Given the description of an element on the screen output the (x, y) to click on. 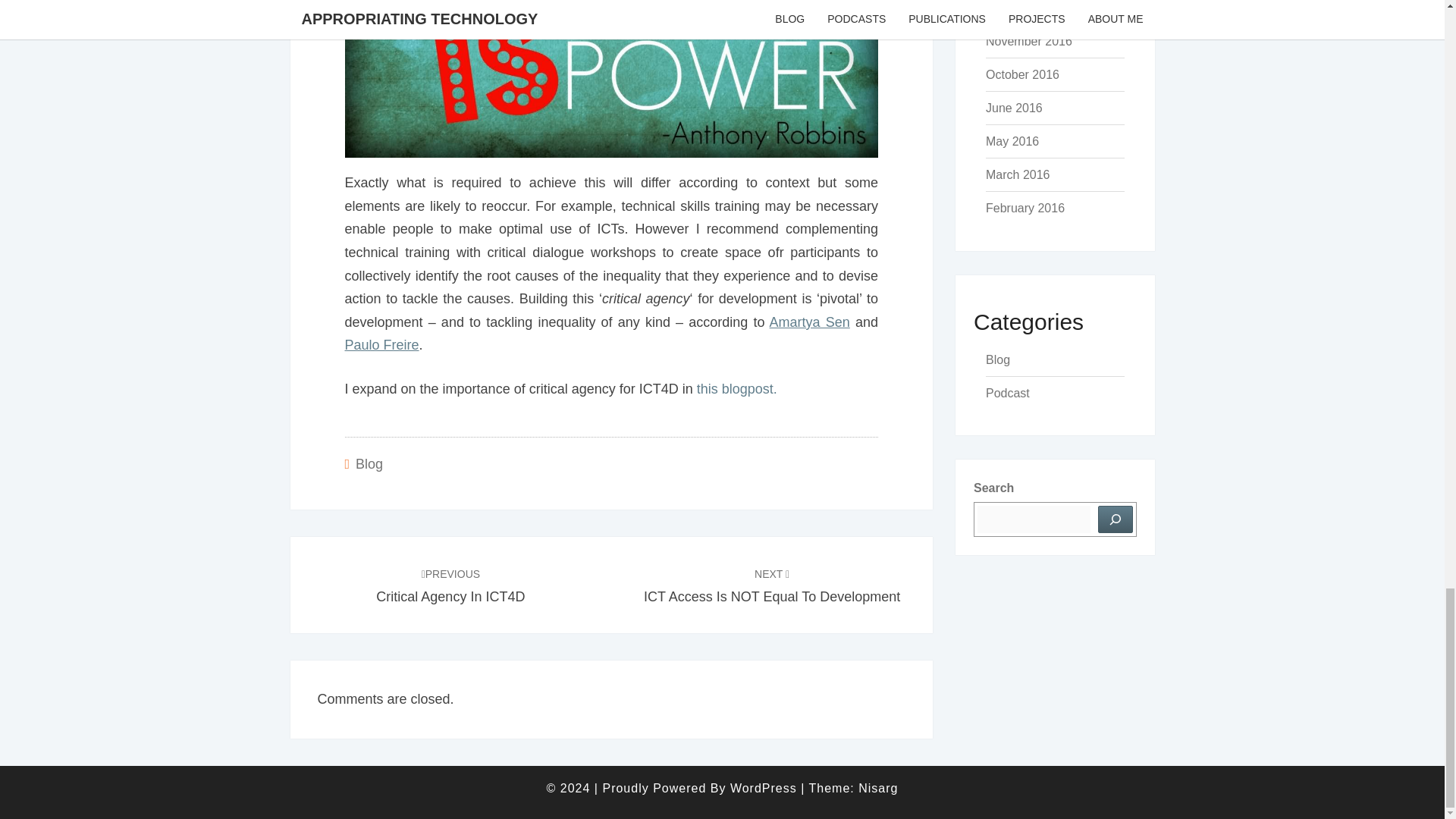
Blog (368, 463)
Paulo Freire (381, 344)
this blogpost. (737, 388)
Amartya Sen (810, 322)
